Given the description of an element on the screen output the (x, y) to click on. 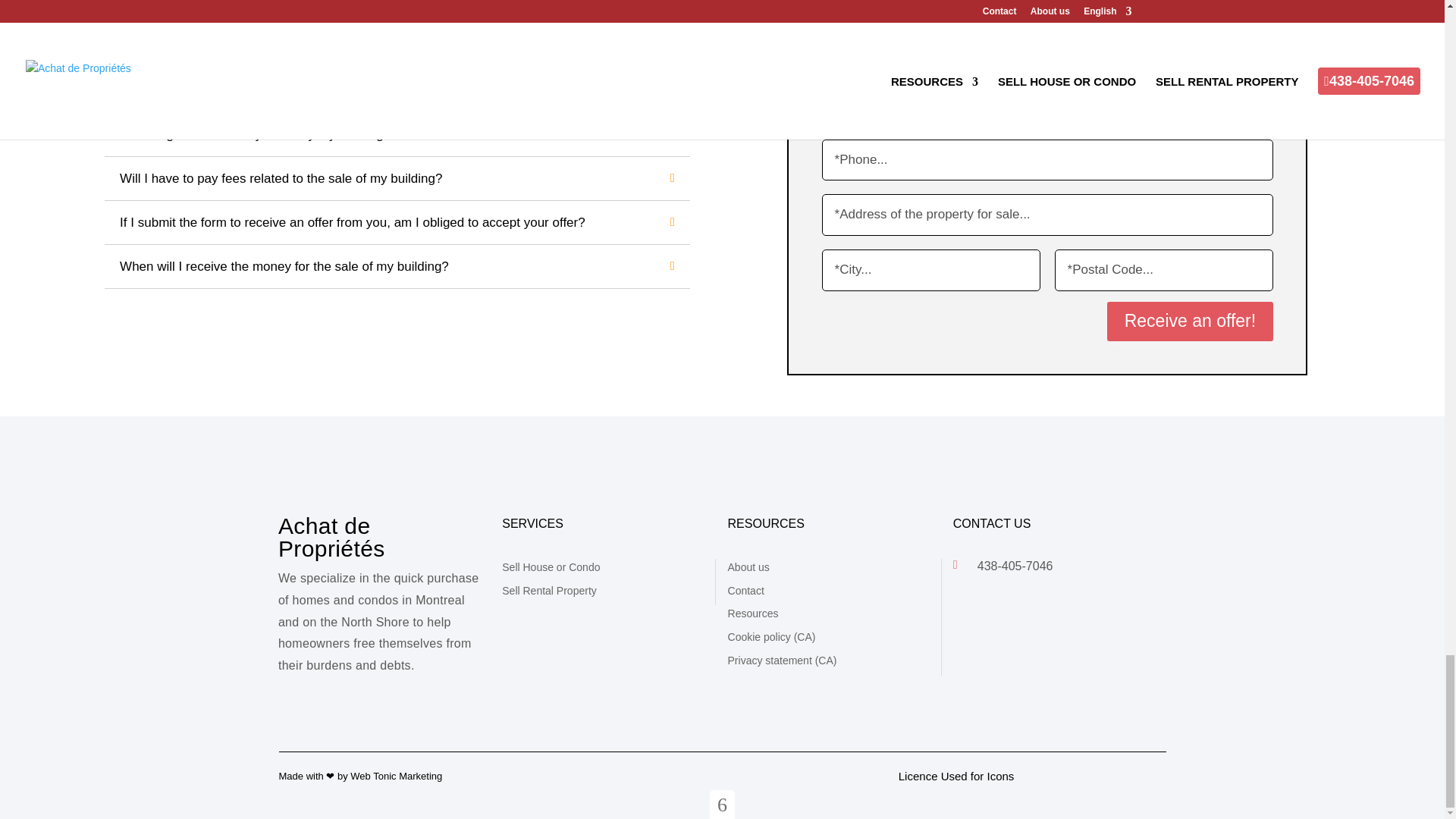
Web Tonic Marketing (396, 776)
Sell House or Condo (550, 567)
Resources (753, 613)
Receive an offer! (1189, 322)
Sell Rental Property (549, 589)
About us (749, 567)
438-405-7046 (1014, 565)
Licence Used for Icons (956, 775)
Contact (746, 589)
